Given the description of an element on the screen output the (x, y) to click on. 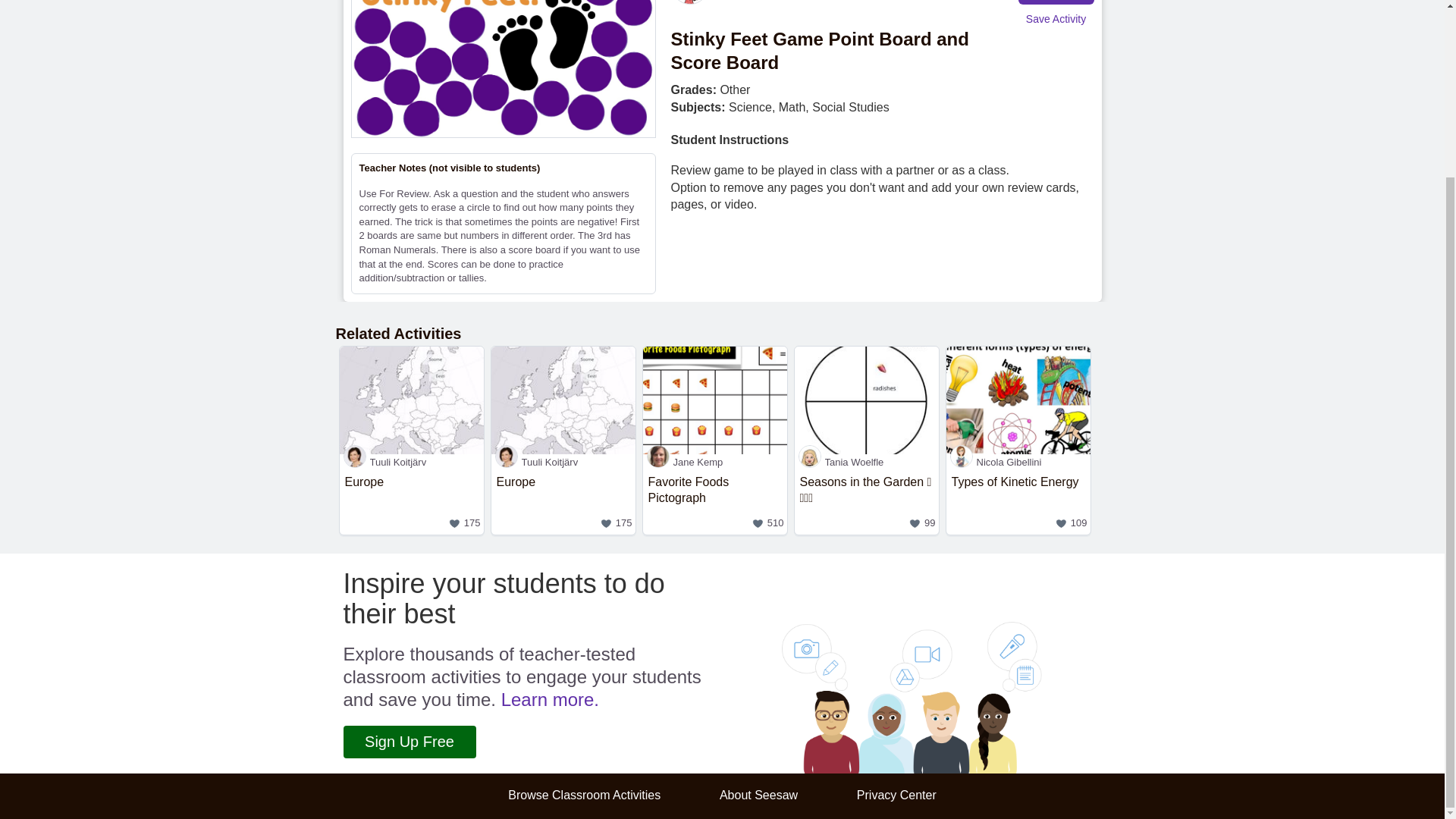
Nicola Gibellini (1018, 462)
Try It (1055, 2)
Privacy Center (895, 795)
Sign Up Free (563, 501)
Learn more. (715, 501)
Save Activity (409, 741)
Jane Kemp (1018, 501)
